Given the description of an element on the screen output the (x, y) to click on. 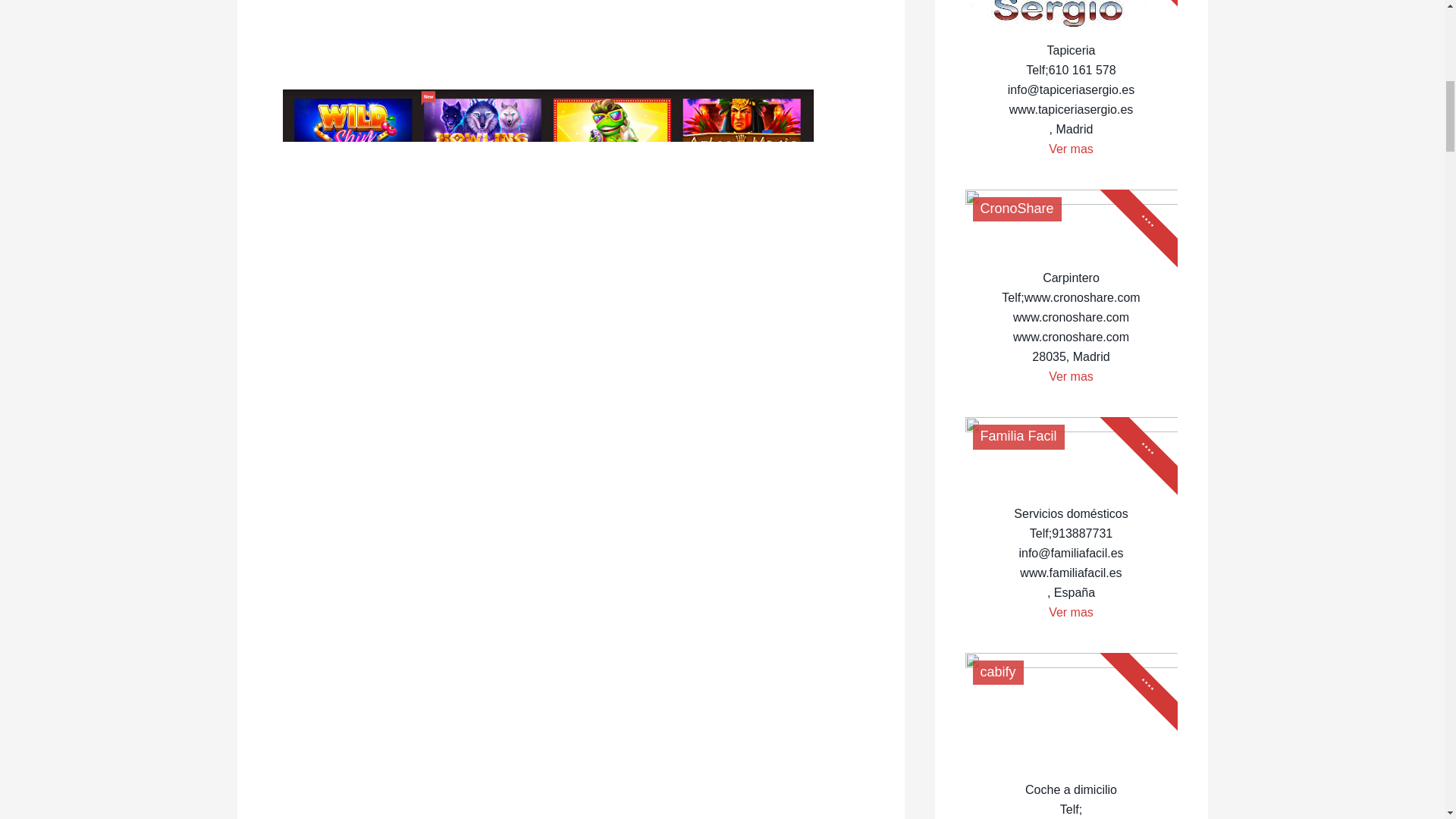
Pin up queens demo (547, 9)
